Given the description of an element on the screen output the (x, y) to click on. 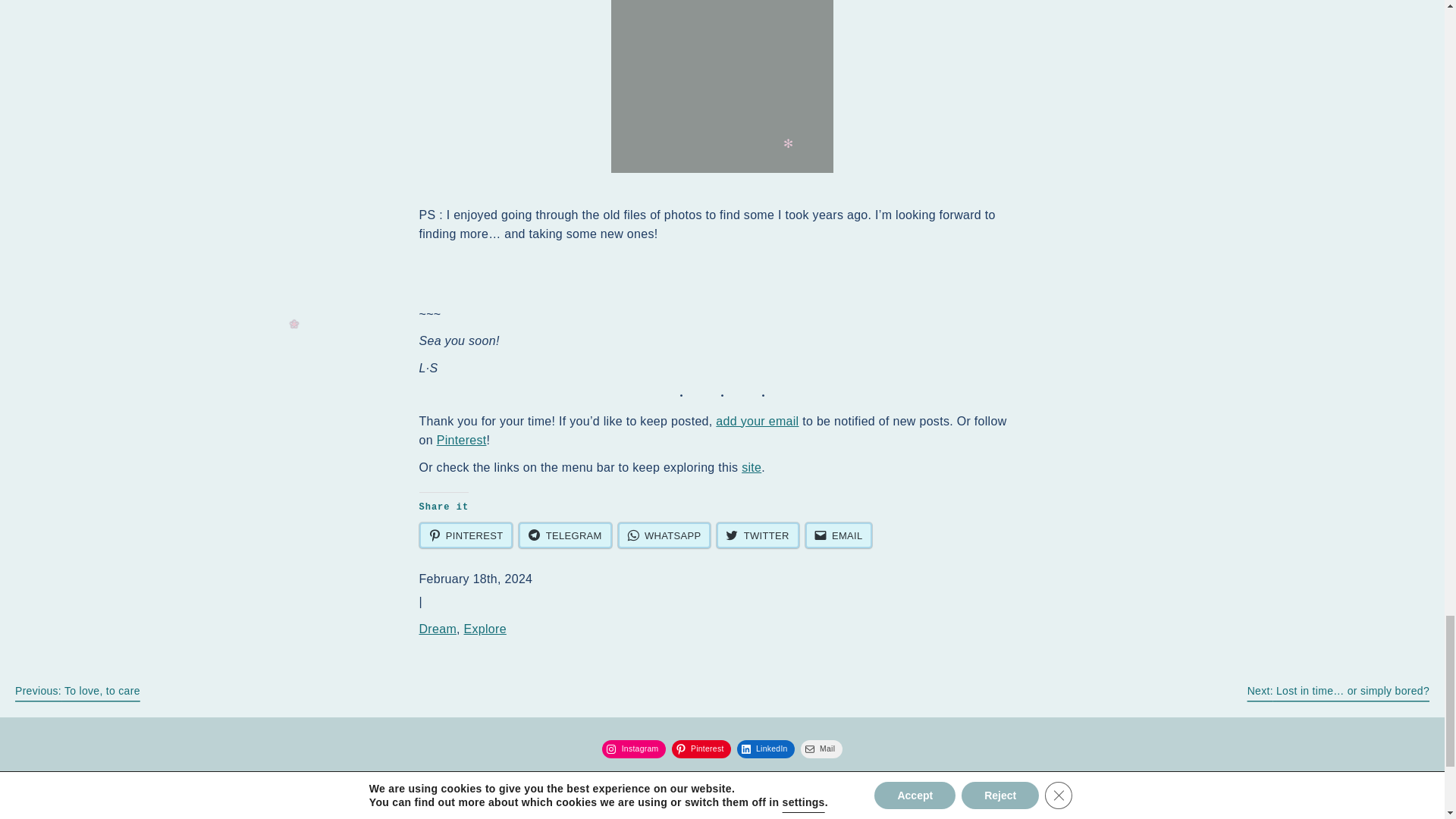
TWITTER (756, 534)
Click to share on Telegram (564, 534)
Lena Singla (659, 797)
Click to share on Twitter (756, 534)
Click to email a link to a friend (838, 534)
Privacy Policy (778, 797)
PINTEREST (465, 534)
Previous: To love, to care (76, 690)
Mail (821, 749)
Instagram (633, 749)
